Given the description of an element on the screen output the (x, y) to click on. 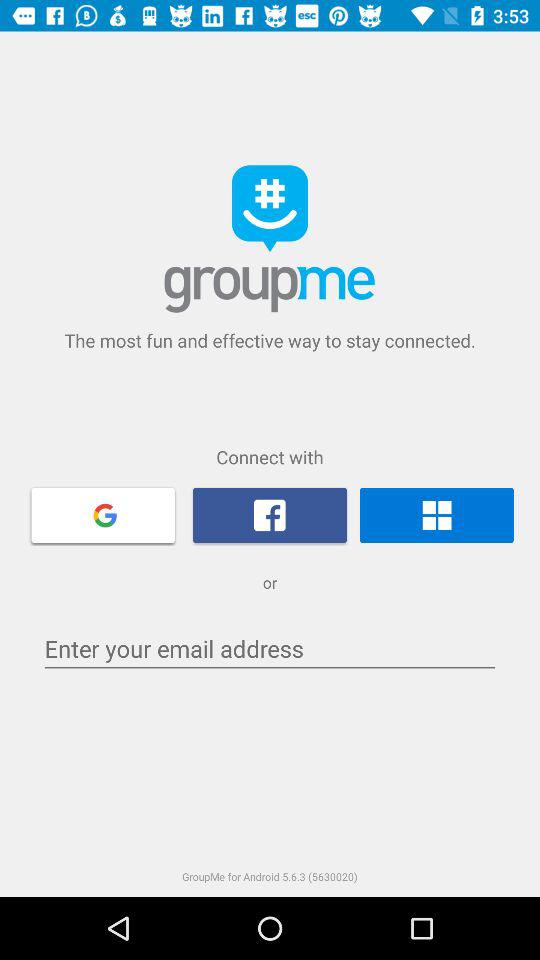
facebook connection (269, 515)
